Given the description of an element on the screen output the (x, y) to click on. 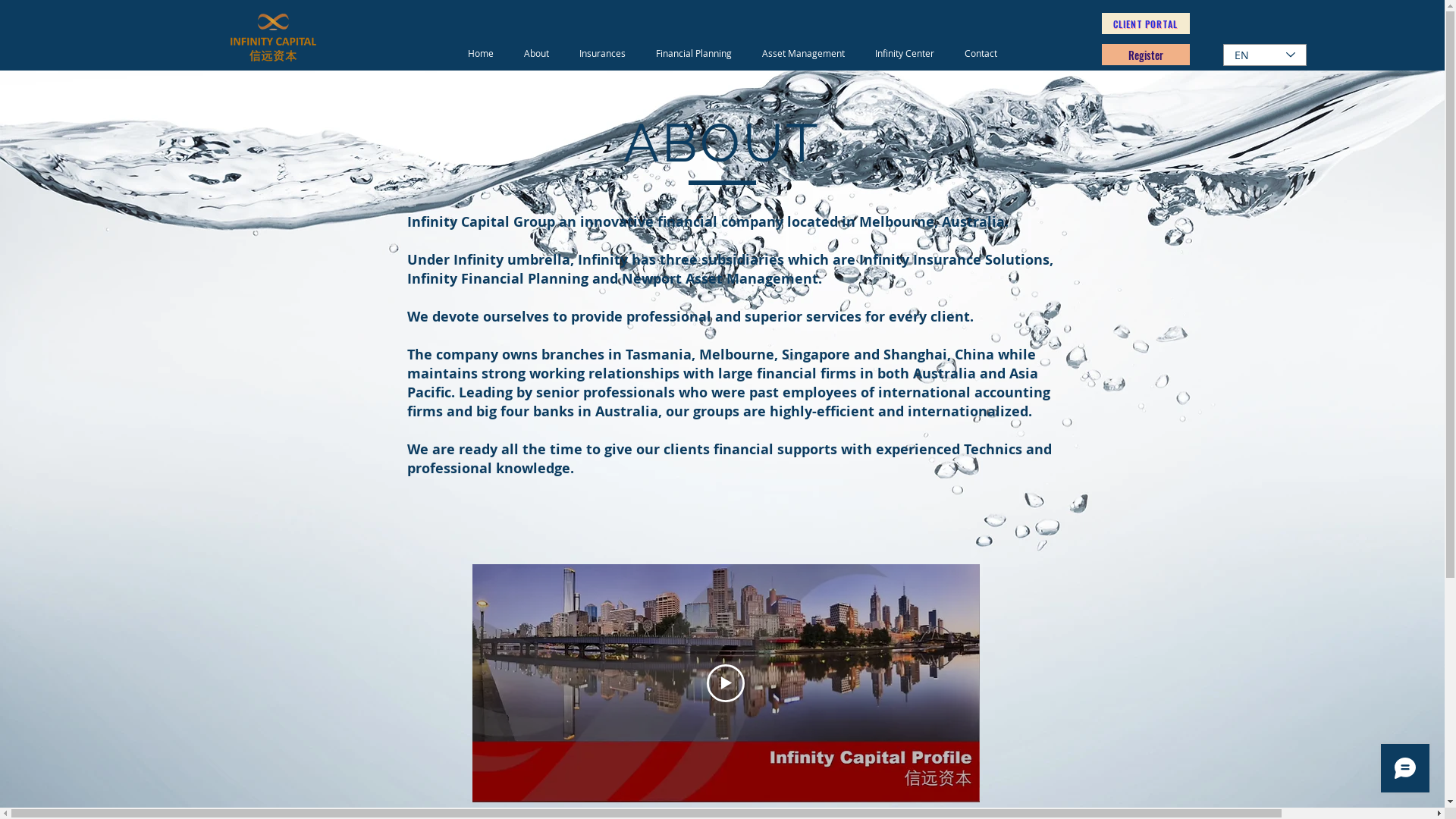
Insurances Element type: text (602, 53)
CLIENT PORTAL Element type: text (1145, 23)
Contact Element type: text (980, 53)
Infinity Center Element type: text (904, 53)
Register Element type: text (1145, 54)
Wix Chat Element type: hover (1408, 771)
Financial Planning Element type: text (693, 53)
Home Element type: text (479, 53)
About Element type: text (535, 53)
Asset Management Element type: text (802, 53)
